Given the description of an element on the screen output the (x, y) to click on. 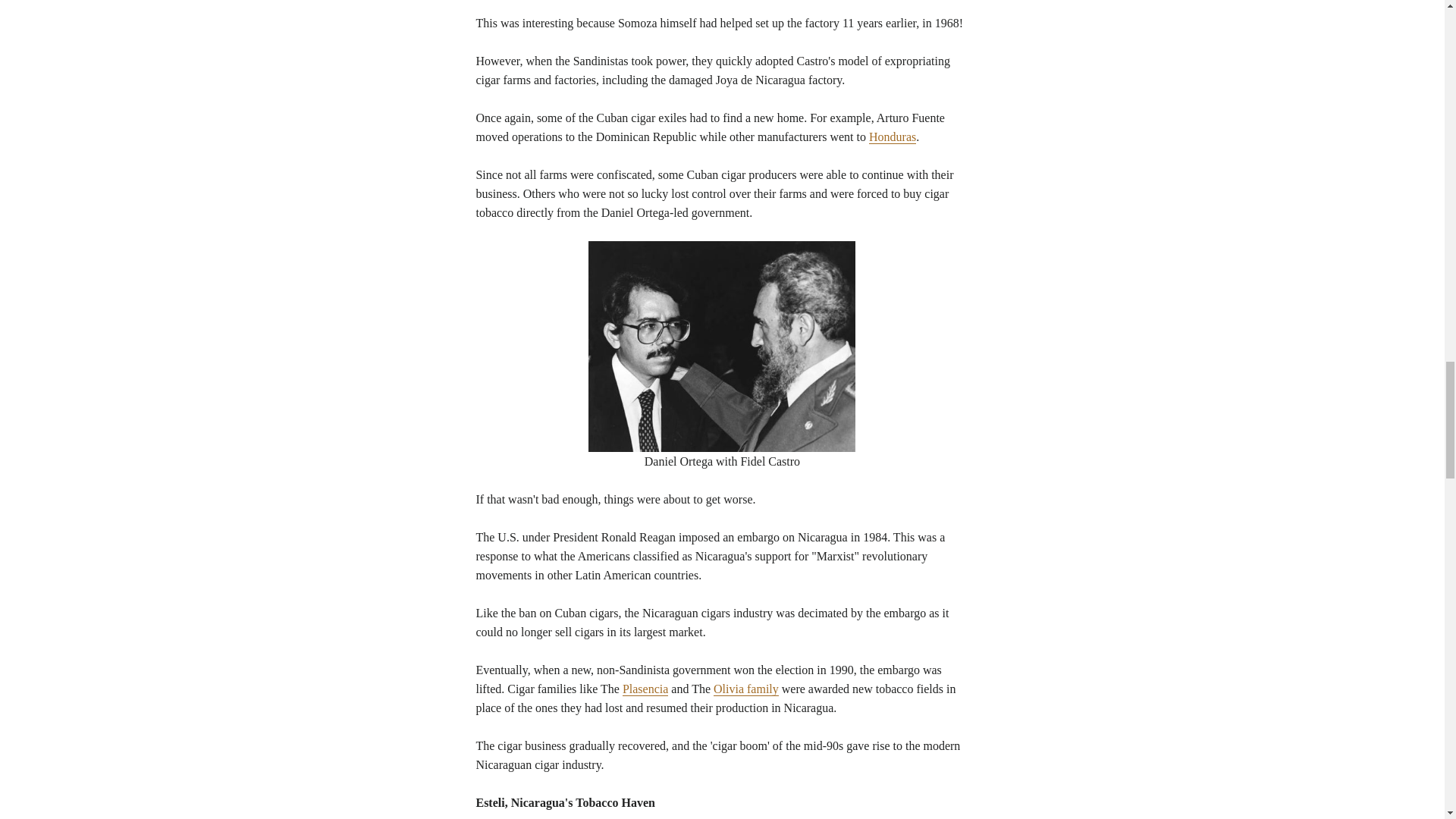
Plasencia (645, 689)
Olivia family (745, 689)
Honduras (892, 137)
